Given the description of an element on the screen output the (x, y) to click on. 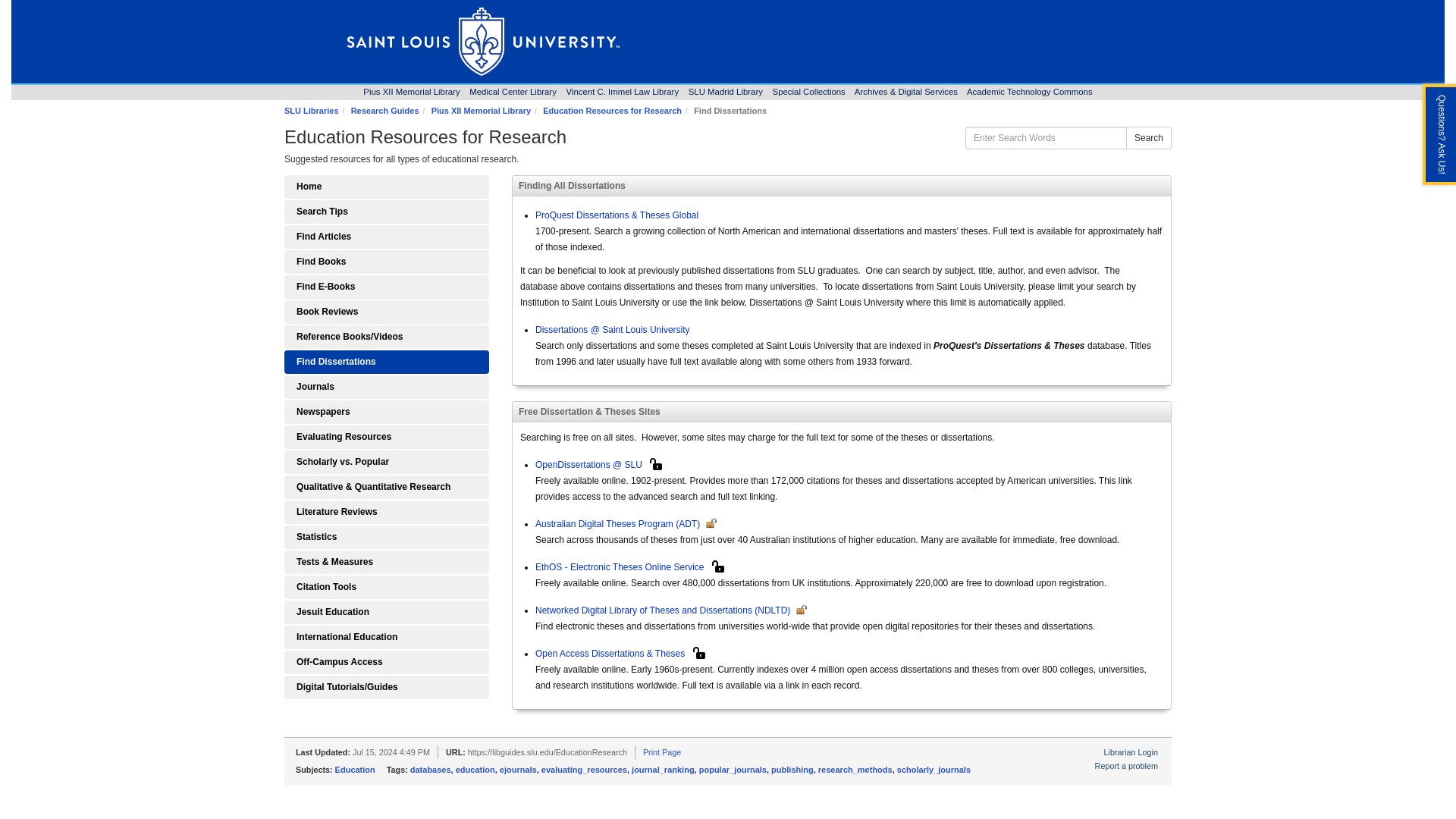
Search databases to locate articles on a topic. (386, 236)
Literature Reviews (386, 512)
Journals (386, 386)
Scholarly vs. Popular (386, 462)
Academic Technology Commons (1029, 91)
Search (386, 637)
Medical Center Library (1148, 137)
EthOS - Electronic Theses Online Service (512, 91)
Pius XII Memorial Library (619, 566)
Citation Tools (480, 110)
Find Books (386, 586)
Jesuit Education (386, 261)
Search Tips (386, 612)
Education Resources for Research (386, 211)
